Given the description of an element on the screen output the (x, y) to click on. 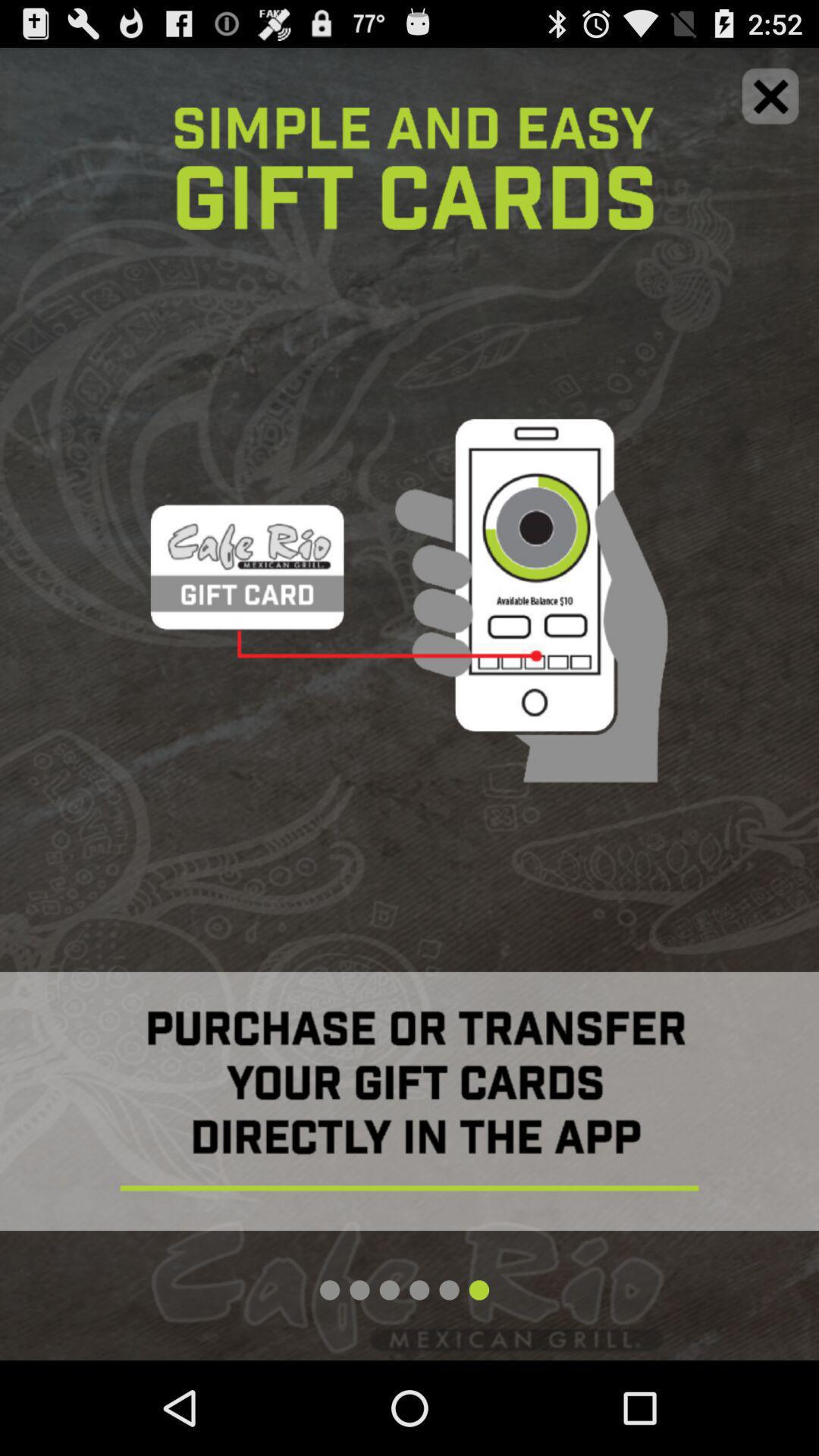
go to close (770, 95)
